Given the description of an element on the screen output the (x, y) to click on. 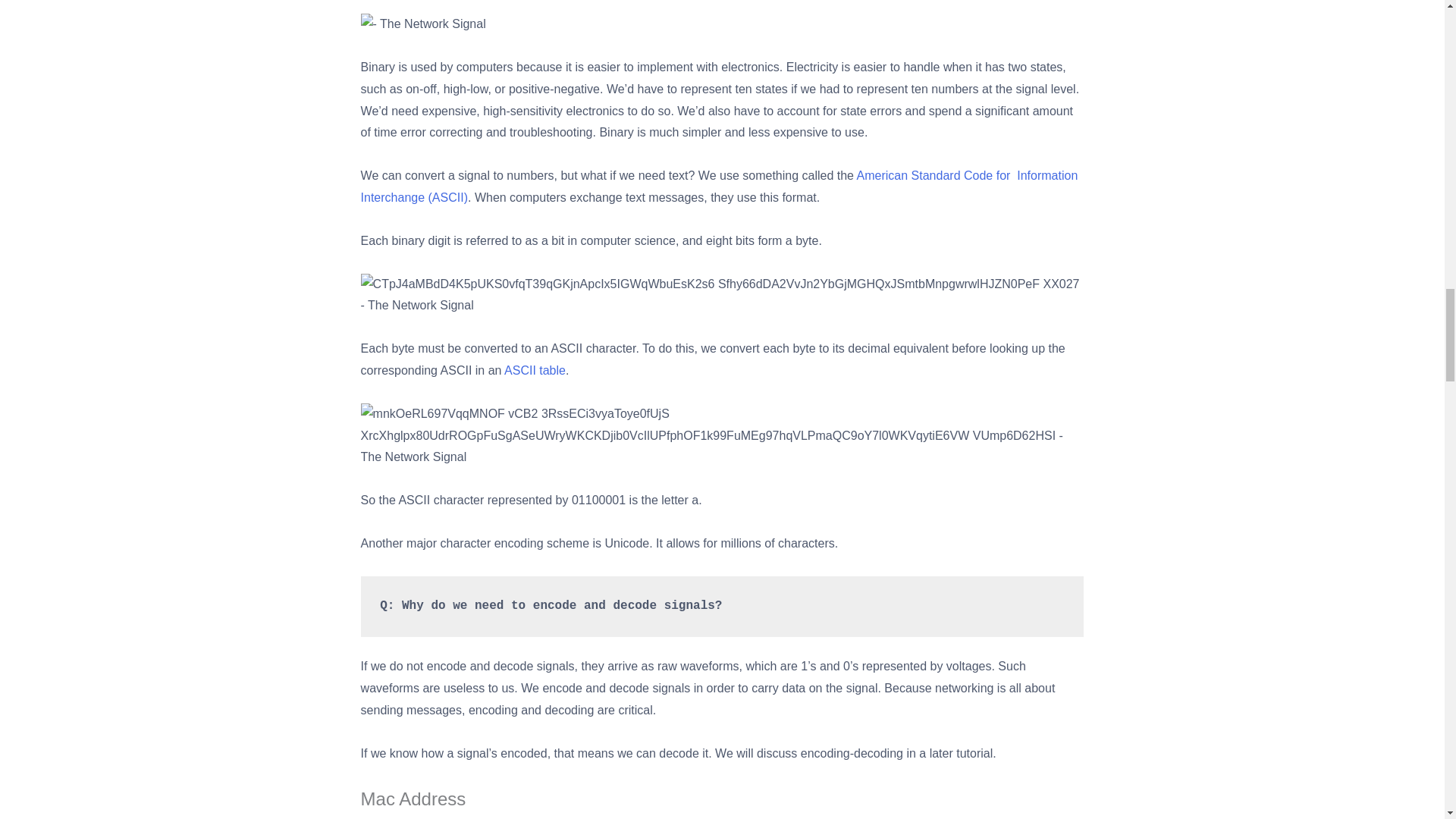
The Network Signal 9 (722, 295)
The Network Signal 8 (423, 24)
The Network Signal 10 (722, 435)
